Given the description of an element on the screen output the (x, y) to click on. 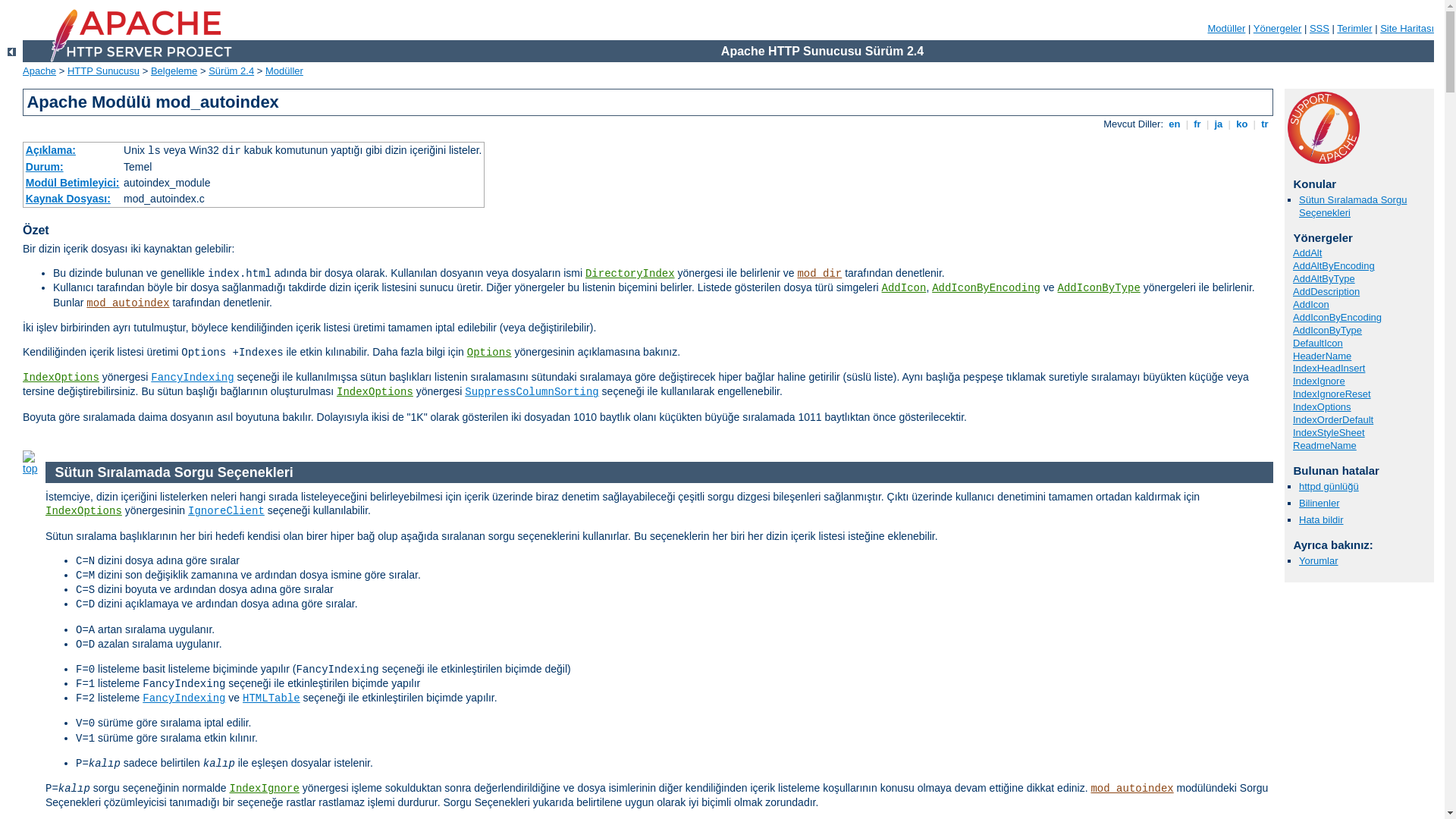
<- Element type: hover (11, 51)
HTTP Sunucusu Element type: text (103, 70)
Hata bildir Element type: text (1321, 519)
AddIconByType Element type: text (1098, 288)
 tr  Element type: text (1264, 123)
AddIcon Element type: text (903, 288)
IndexOptions Element type: text (1321, 406)
AddIconByEncoding Element type: text (1336, 317)
AddAlt Element type: text (1306, 252)
Bilinenler Element type: text (1319, 502)
 fr  Element type: text (1197, 123)
AddAltByType Element type: text (1323, 278)
DefaultIcon Element type: text (1317, 342)
 ja  Element type: text (1218, 123)
AddDescription Element type: text (1325, 291)
 en  Element type: text (1174, 123)
IndexOptions Element type: text (83, 511)
Options Element type: text (489, 352)
AddIconByEncoding Element type: text (985, 288)
IndexHeadInsert Element type: text (1328, 367)
SuppressColumnSorting Element type: text (531, 391)
FancyIndexing Element type: text (183, 698)
IndexIgnore Element type: text (263, 788)
IndexOptions Element type: text (374, 391)
mod_autoindex Element type: text (127, 303)
IndexOrderDefault Element type: text (1332, 419)
ReadmeName Element type: text (1324, 445)
AddIconByType Element type: text (1326, 329)
Terimler Element type: text (1353, 28)
FancyIndexing Element type: text (191, 377)
HeaderName Element type: text (1321, 355)
IndexIgnoreReset Element type: text (1331, 393)
Durum: Element type: text (44, 166)
IndexOptions Element type: text (60, 377)
HTMLTable Element type: text (271, 698)
Belgeleme Element type: text (173, 70)
IndexStyleSheet Element type: text (1328, 432)
IgnoreClient Element type: text (226, 511)
Apache Element type: text (39, 70)
AddIcon Element type: text (1310, 304)
IndexIgnore Element type: text (1318, 380)
DirectoryIndex Element type: text (629, 273)
mod_dir Element type: text (819, 273)
mod_autoindex Element type: text (1131, 788)
SSS Element type: text (1319, 28)
 ko  Element type: text (1241, 123)
AddAltByEncoding Element type: text (1333, 265)
Yorumlar Element type: text (1318, 560)
